Given the description of an element on the screen output the (x, y) to click on. 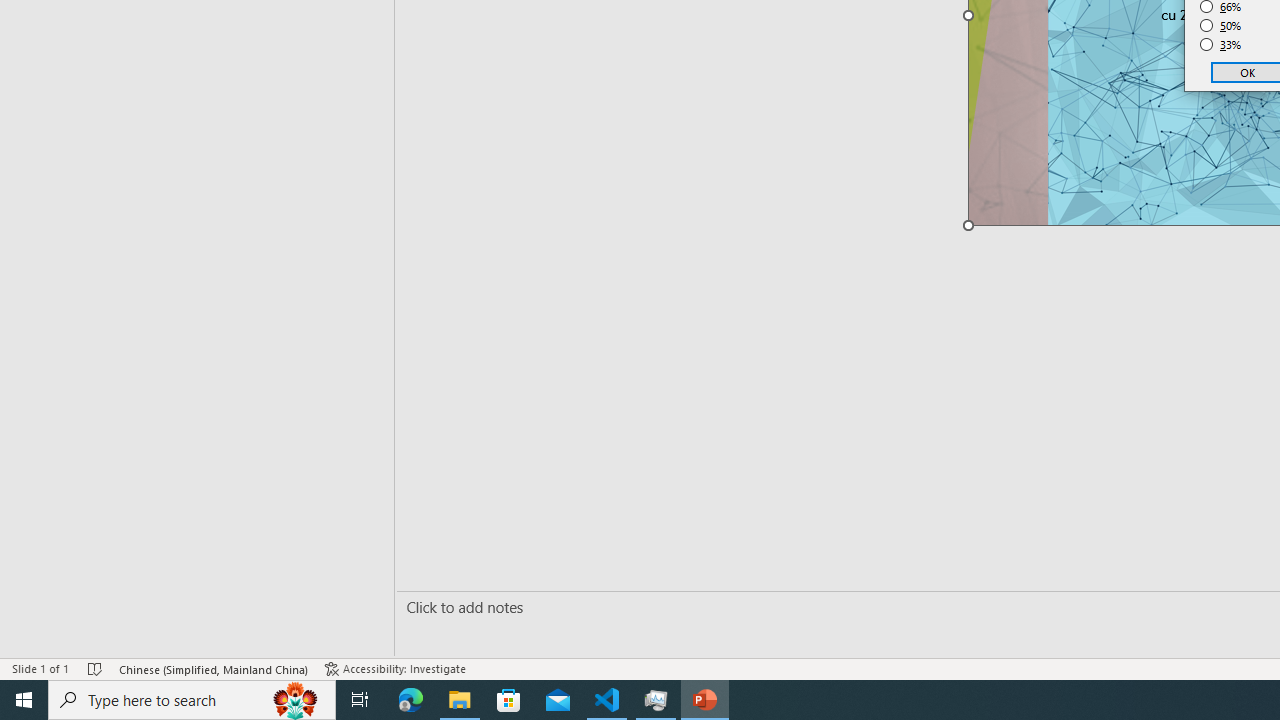
File Explorer - 1 running window (460, 699)
Visual Studio Code - 1 running window (607, 699)
Task Manager - 1 running window (656, 699)
Start (24, 699)
50% (1221, 25)
33% (1221, 44)
PowerPoint - 1 running window (704, 699)
Microsoft Edge (411, 699)
Type here to search (191, 699)
Microsoft Store (509, 699)
Task View (359, 699)
Spell Check No Errors (95, 668)
Search highlights icon opens search home window (295, 699)
Accessibility Checker Accessibility: Investigate (395, 668)
